Given the description of an element on the screen output the (x, y) to click on. 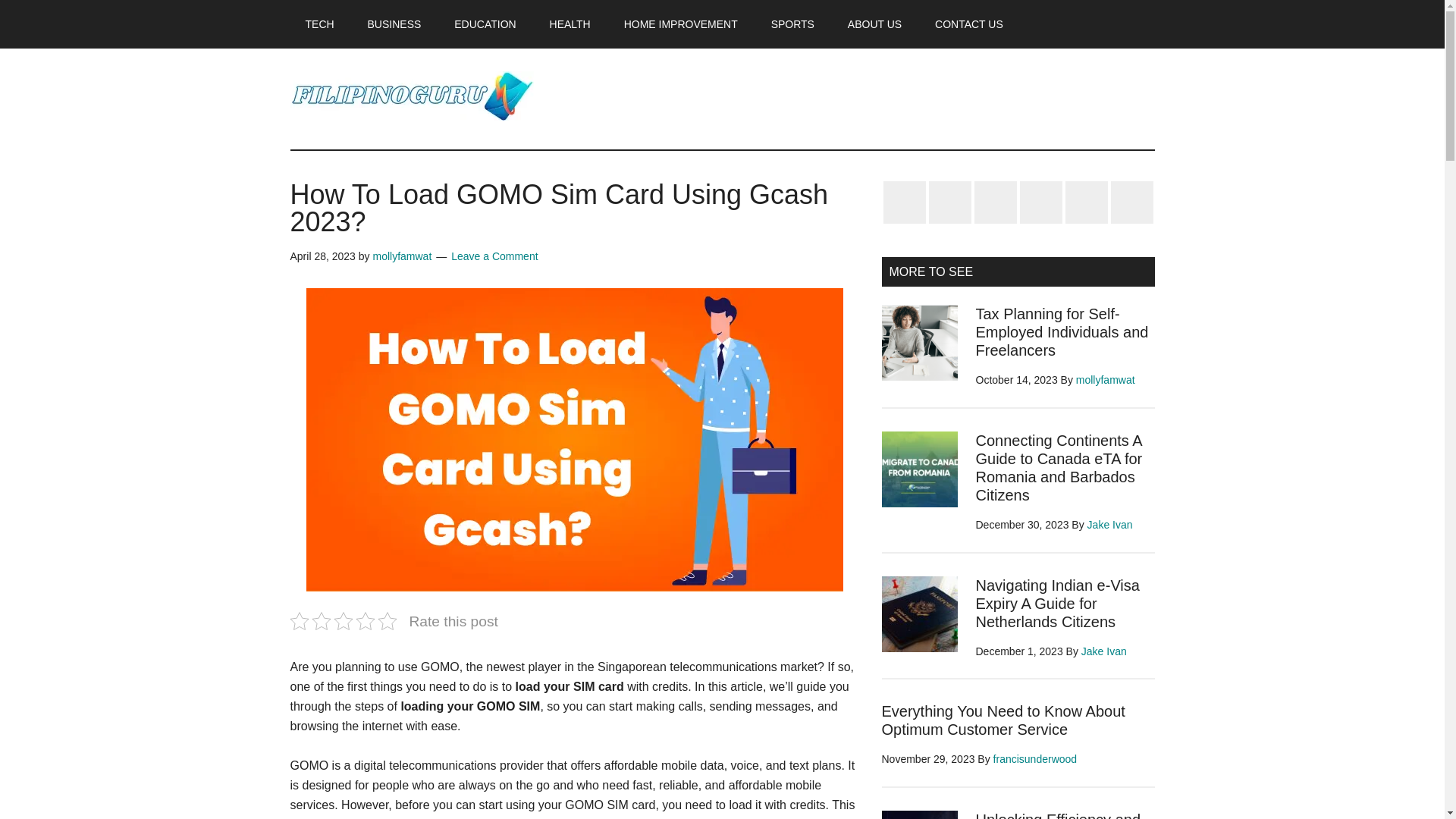
Jake Ivan (1109, 524)
mollyfamwat (1105, 379)
HEALTH (569, 24)
Leave a Comment (494, 256)
CONTACT US (968, 24)
ABOUT US (874, 24)
HOME IMPROVEMENT (680, 24)
